Given the description of an element on the screen output the (x, y) to click on. 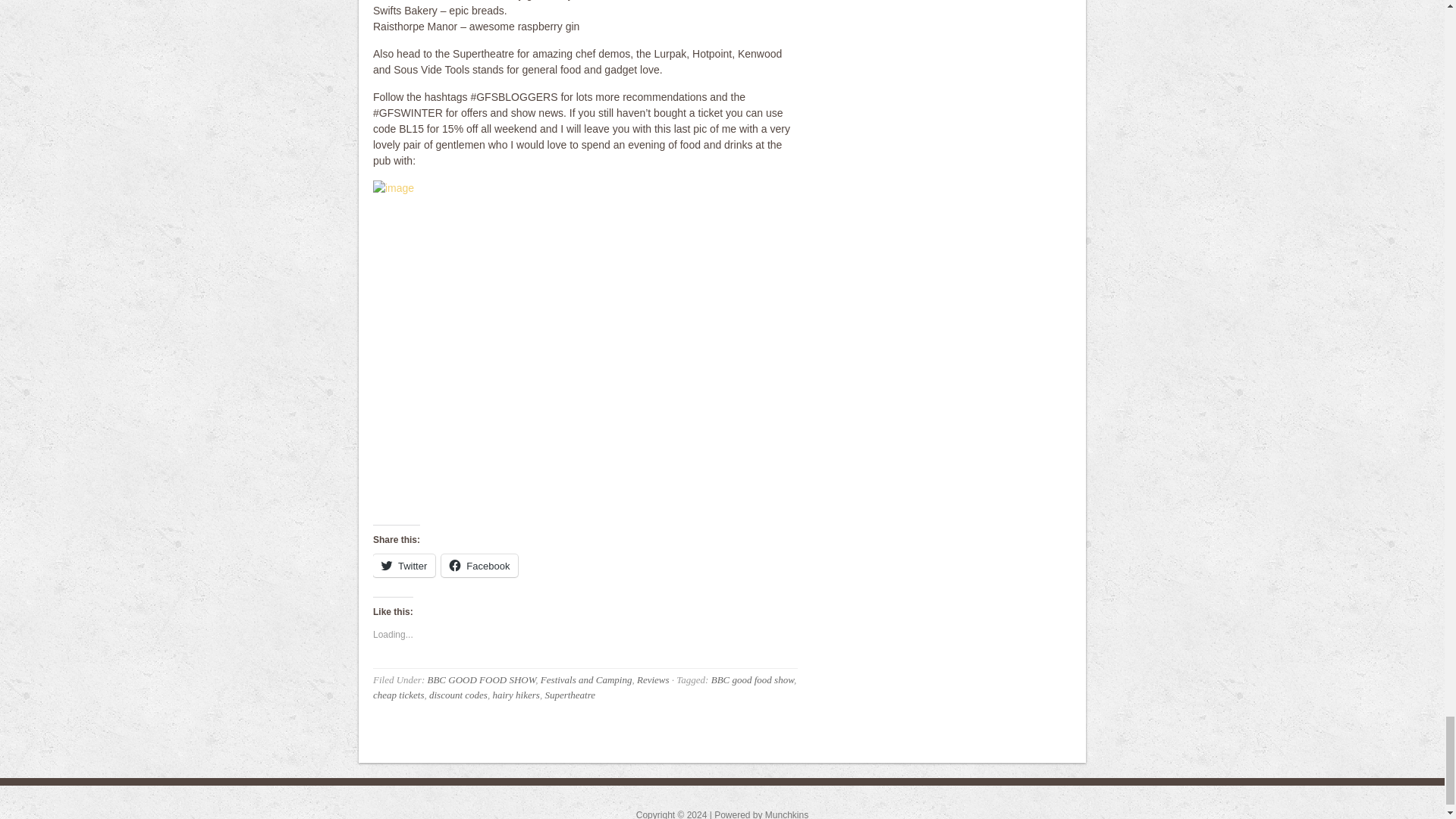
BBC GOOD FOOD SHOW (480, 679)
cheap tickets (398, 695)
BBC good food show (752, 679)
Reviews (653, 679)
Facebook (479, 565)
Click to share on Twitter (403, 565)
Twitter (403, 565)
discount codes (458, 695)
Click to share on Facebook (479, 565)
hairy hikers (515, 695)
Festivals and Camping (585, 679)
